Given the description of an element on the screen output the (x, y) to click on. 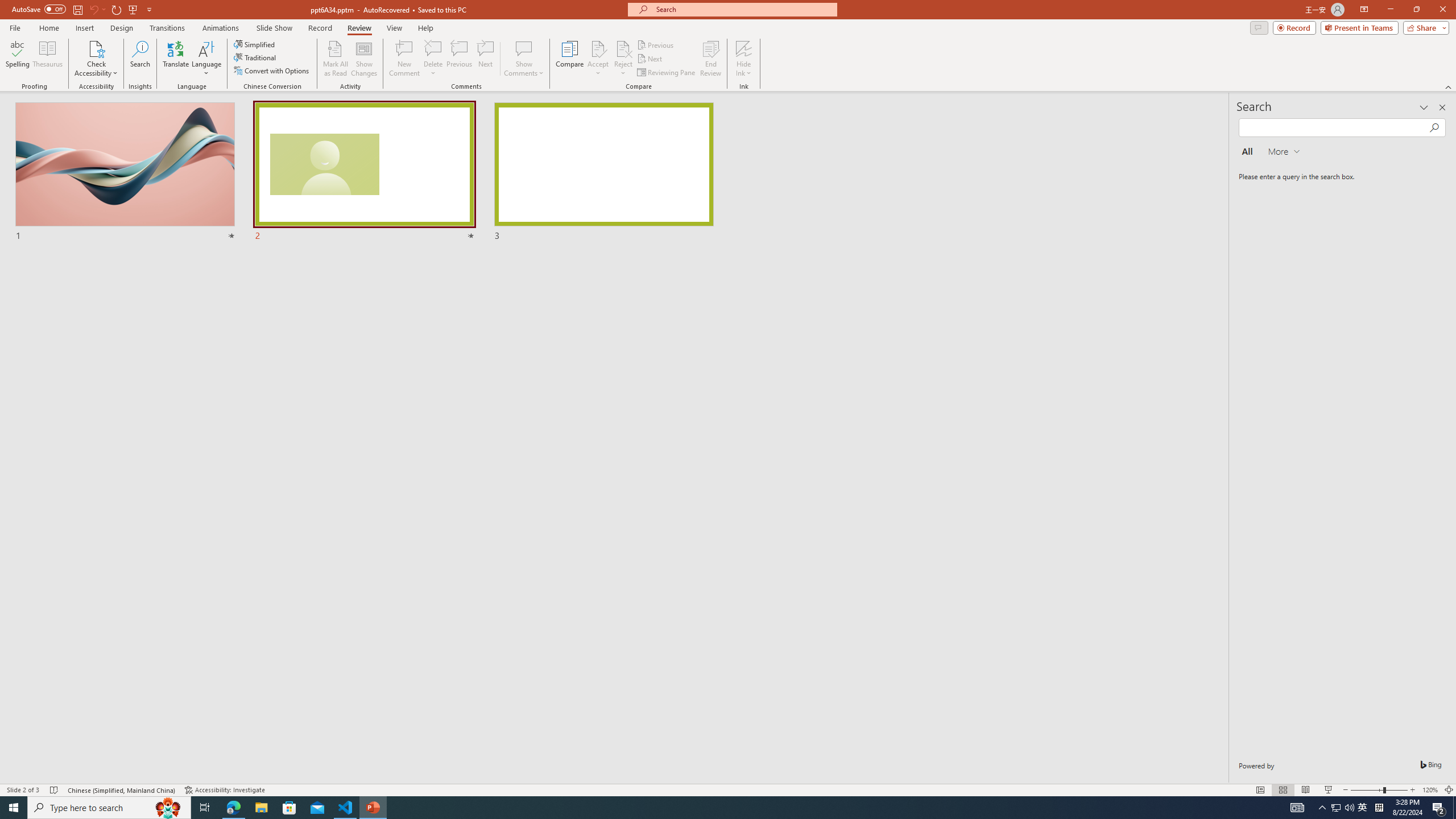
Reviewing Pane (666, 72)
Convert with Options... (272, 69)
Translate (175, 58)
